Given the description of an element on the screen output the (x, y) to click on. 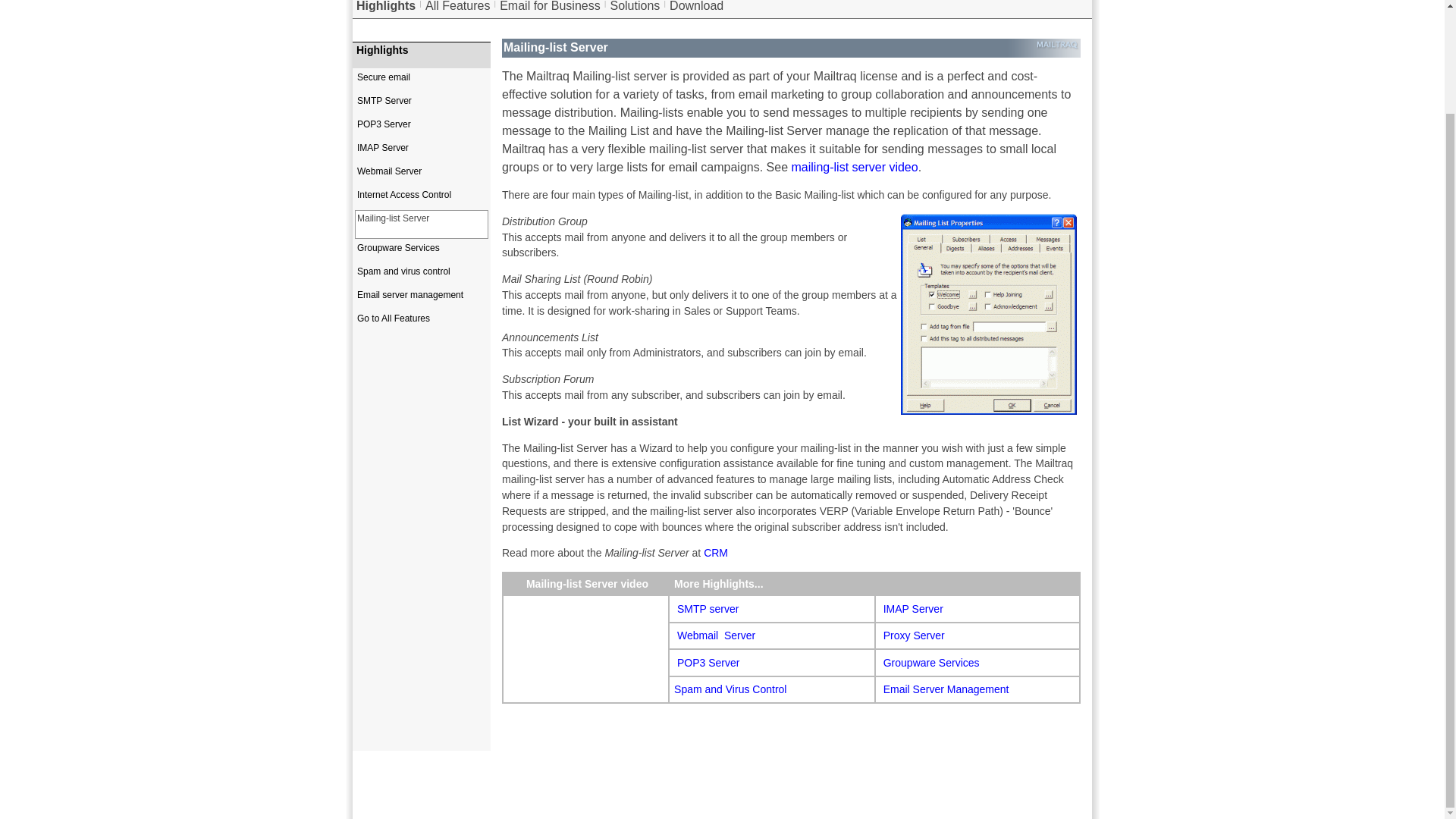
Secure email (421, 82)
Go to All Features (421, 324)
Highlights (421, 50)
Email for Business (549, 6)
POP3 Server (708, 662)
Mailing-list Server (421, 224)
All Features (457, 6)
mailing-list server video (855, 166)
SMTP Server (421, 106)
Webmail Server (421, 176)
Mailtraq IMAP server (913, 608)
Mailtraq mailing list server video (855, 166)
Spam and virus control (421, 276)
Email server management (421, 300)
Proxy Server (913, 635)
